Given the description of an element on the screen output the (x, y) to click on. 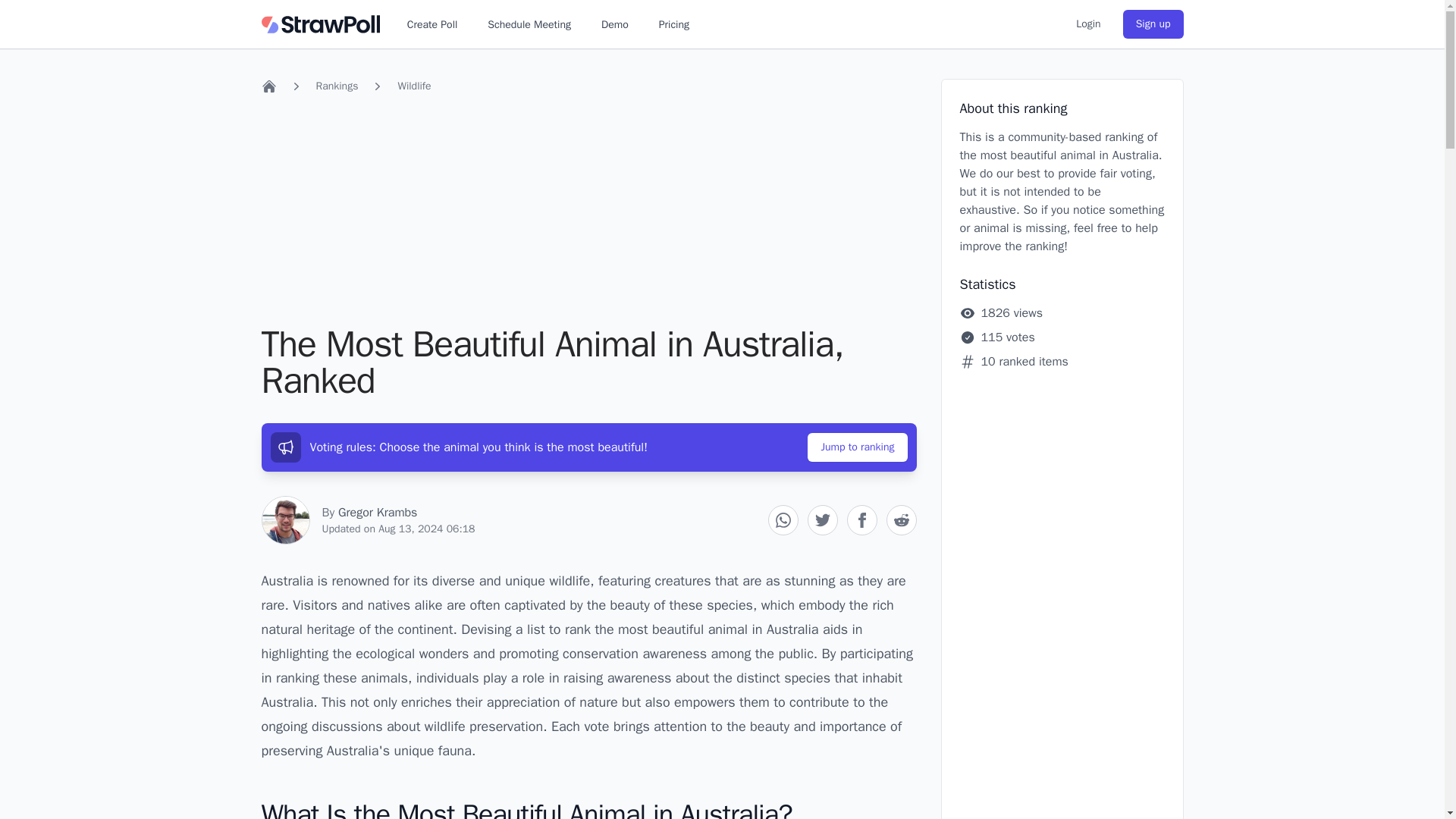
Advertisement (587, 212)
Jump to ranking (857, 447)
Create Poll (432, 24)
Wildlife (413, 86)
Login (1087, 23)
Rankings (336, 86)
Gregor Krambs (377, 512)
Schedule Meeting (528, 24)
Sign up (1152, 23)
